Given the description of an element on the screen output the (x, y) to click on. 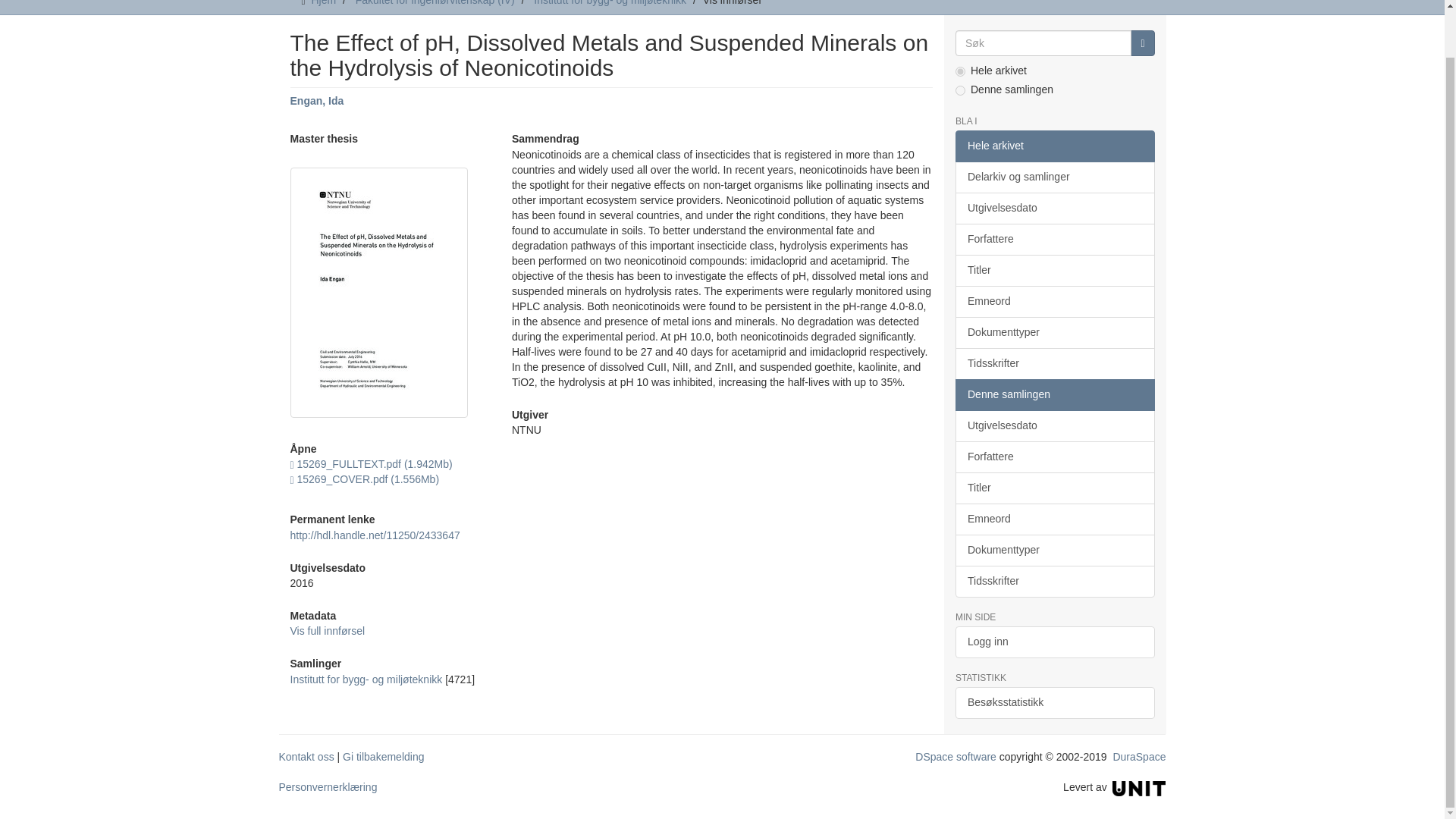
Engan, Ida (316, 101)
Unit (1139, 787)
Utgivelsesdato (1054, 208)
Delarkiv og samlinger (1054, 177)
Titler (1054, 270)
Hele arkivet (1054, 146)
Emneord (1054, 301)
Dokumenttyper (1054, 332)
Forfattere (1054, 239)
Hjem (323, 2)
